Given the description of an element on the screen output the (x, y) to click on. 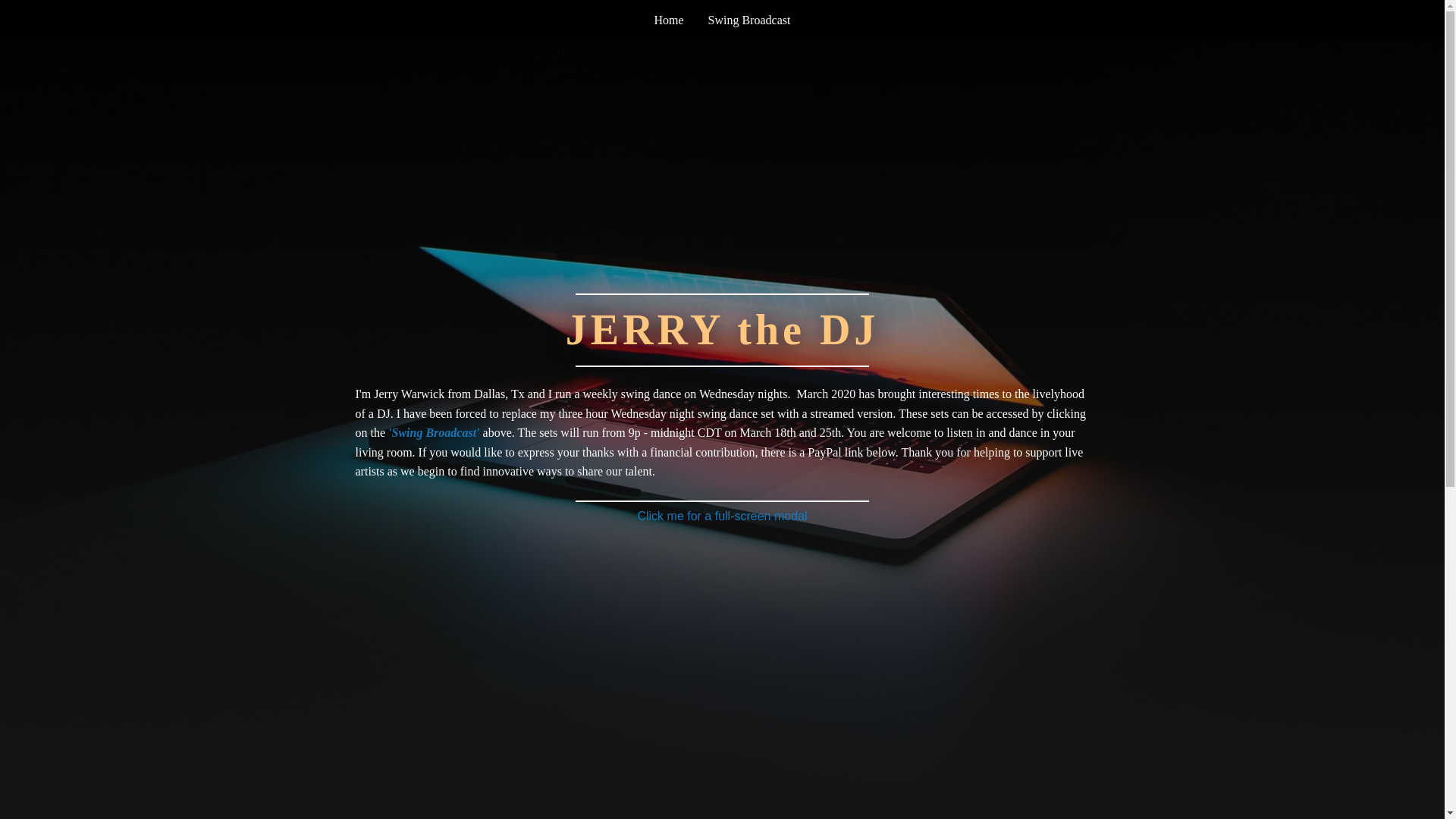
Click me for a full-screen modal (721, 515)
Swing Broadcast (749, 20)
'Swing Broadcast' (433, 431)
Swing Broadcast (749, 20)
Home (668, 20)
Swing Broadcast (749, 20)
